Given the description of an element on the screen output the (x, y) to click on. 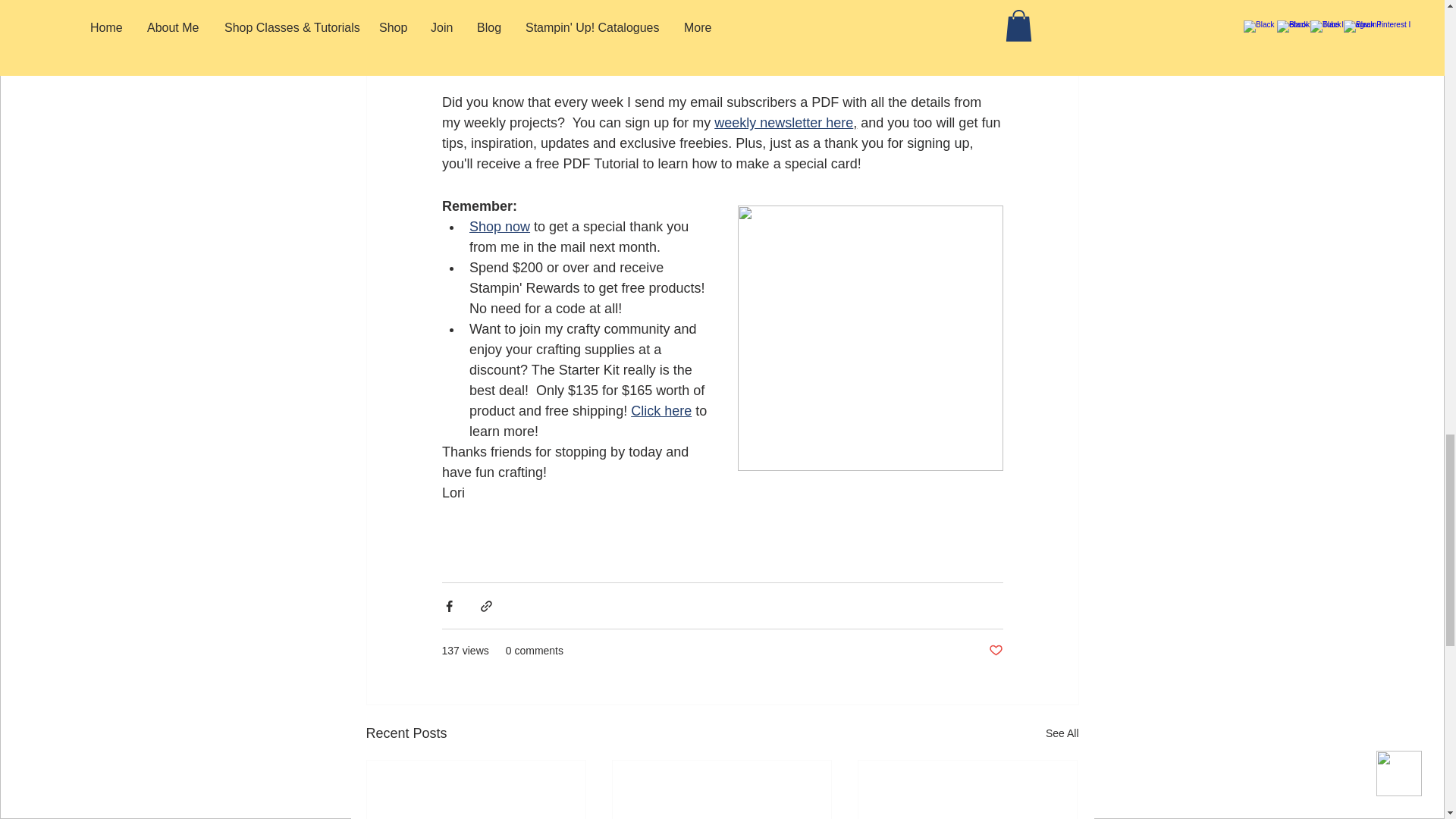
Post not marked as liked (995, 650)
Shop now (498, 226)
Click here (660, 410)
See All (1061, 733)
weekly newsletter here (783, 122)
